Given the description of an element on the screen output the (x, y) to click on. 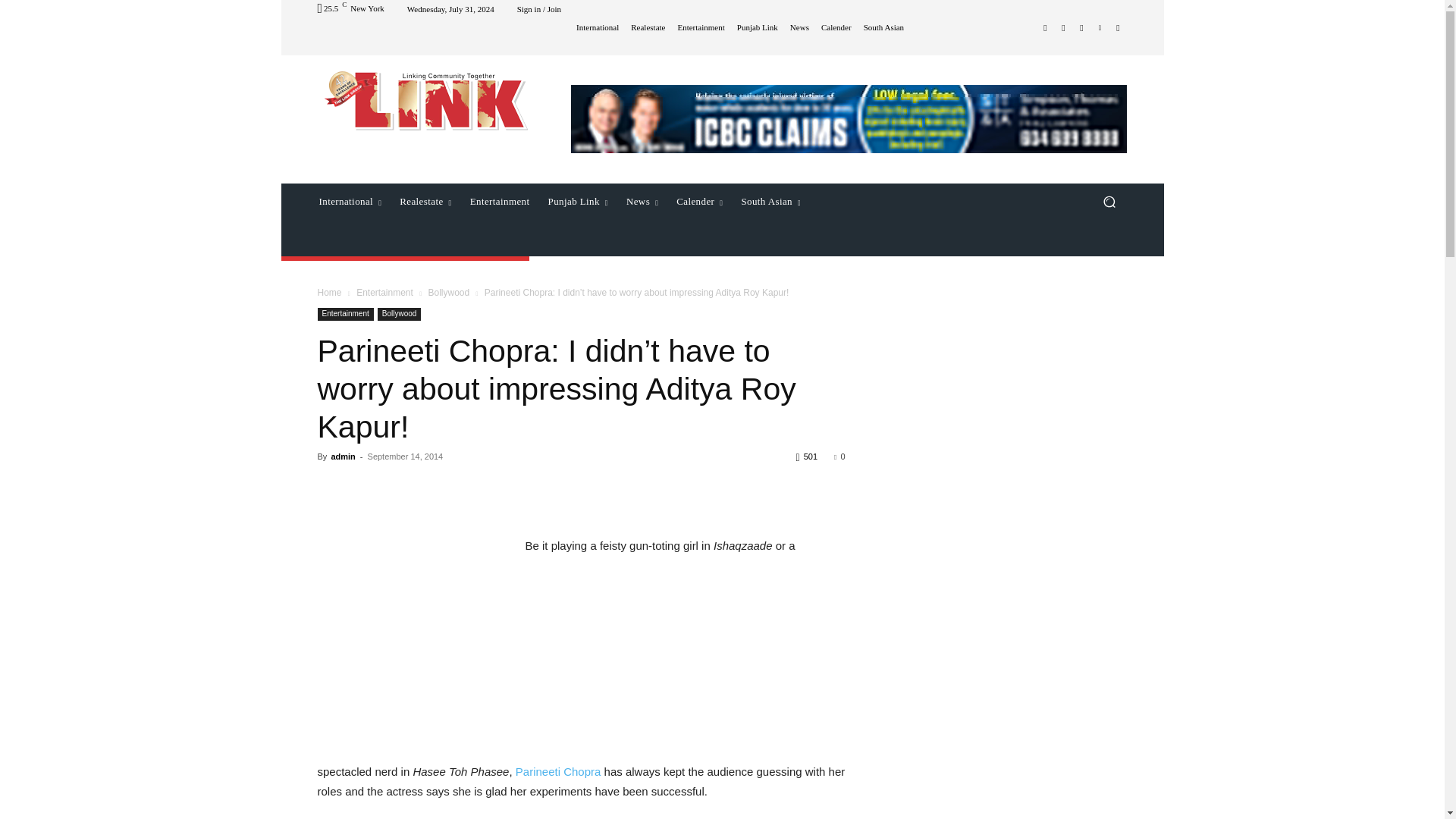
Link Paper (426, 100)
Youtube (1117, 27)
Calender (836, 27)
International (349, 201)
Realestate (647, 27)
International (597, 27)
Instagram (1062, 27)
Link Paper (425, 100)
News (799, 27)
Punjab Link (756, 27)
South Asian (883, 27)
Twitter (1080, 27)
Vimeo (1099, 27)
Facebook (1044, 27)
Entertainment (700, 27)
